Given the description of an element on the screen output the (x, y) to click on. 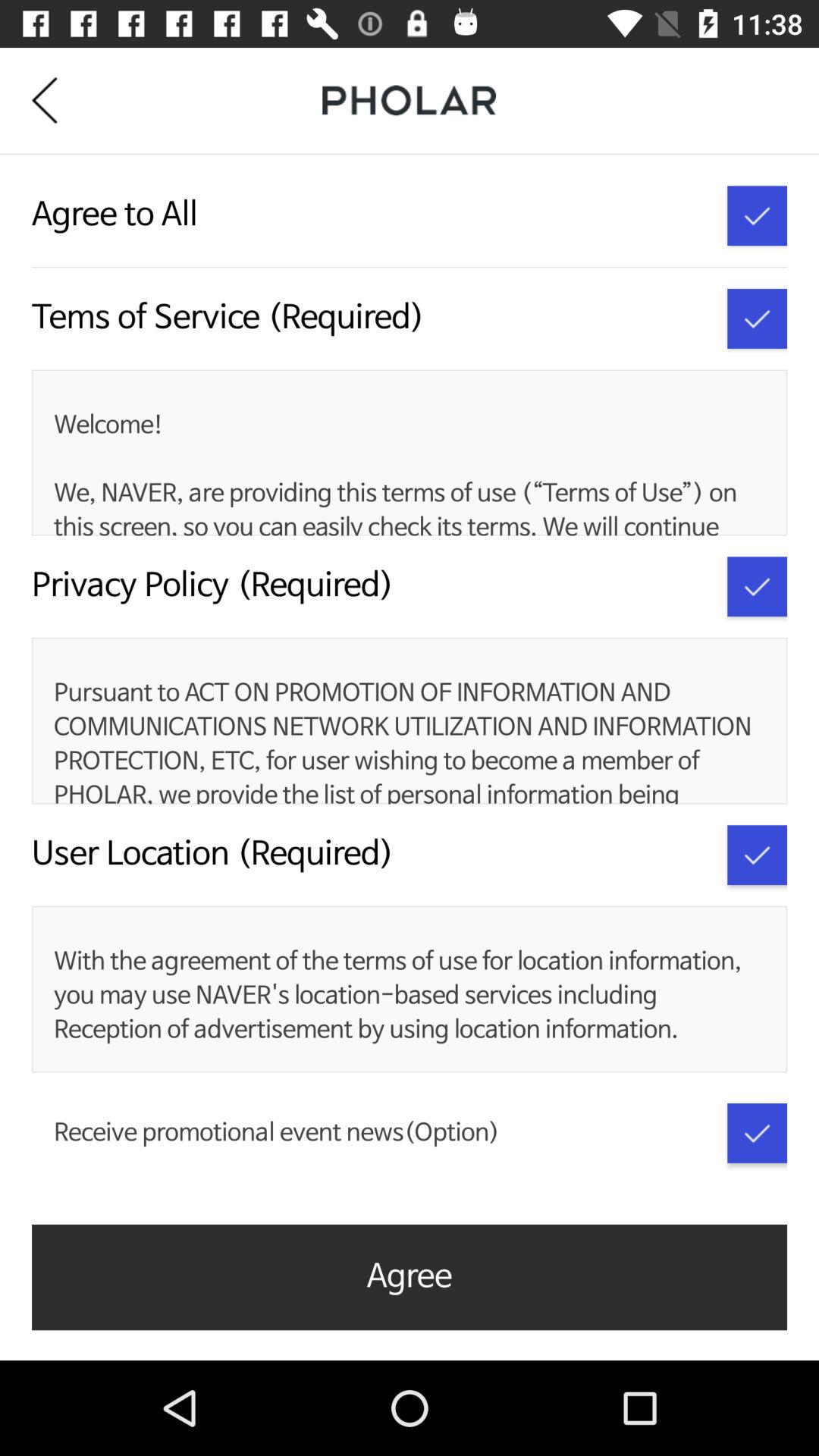
uncheck the box (757, 586)
